Given the description of an element on the screen output the (x, y) to click on. 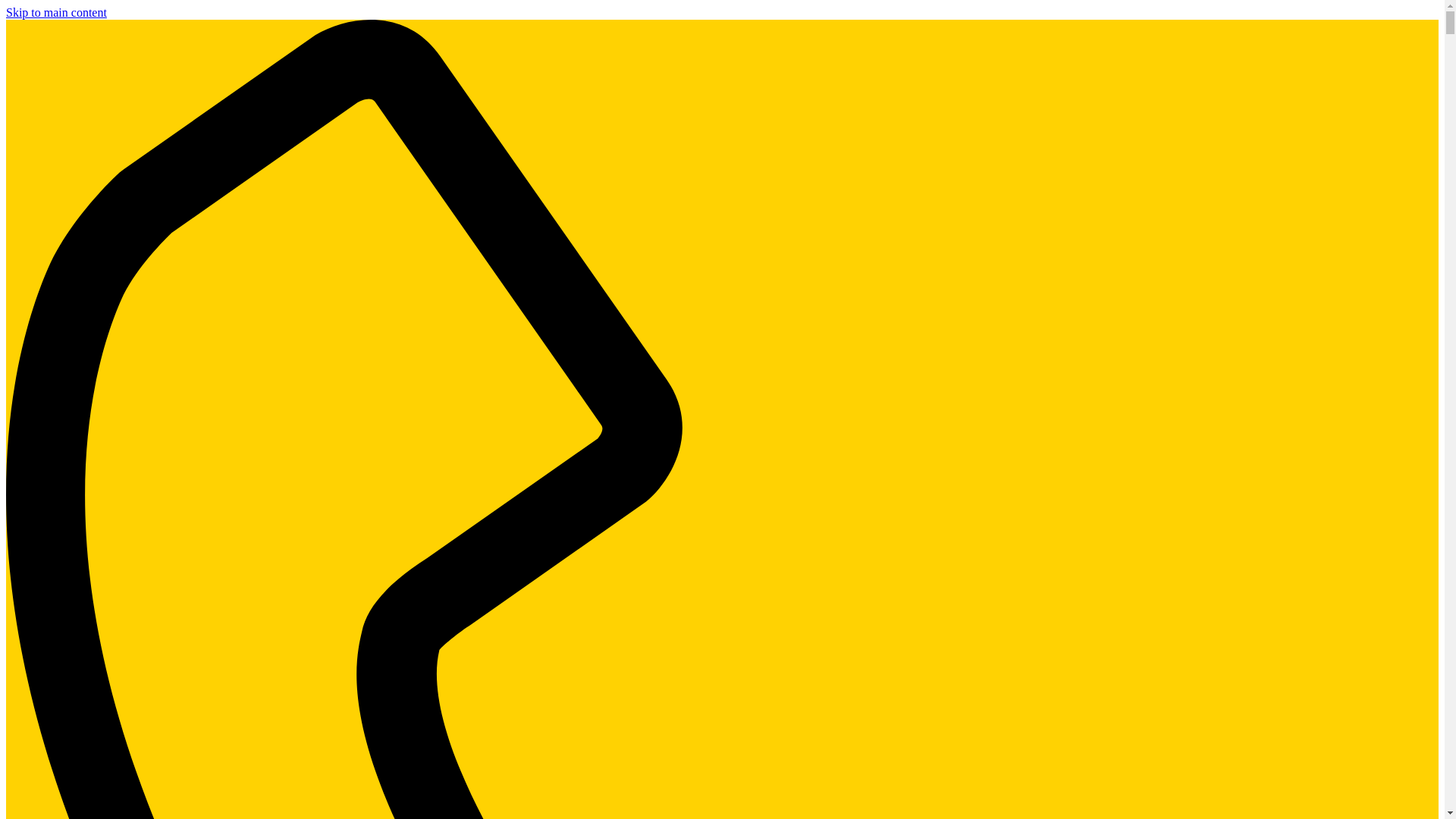
Skip to main content (55, 11)
